Given the description of an element on the screen output the (x, y) to click on. 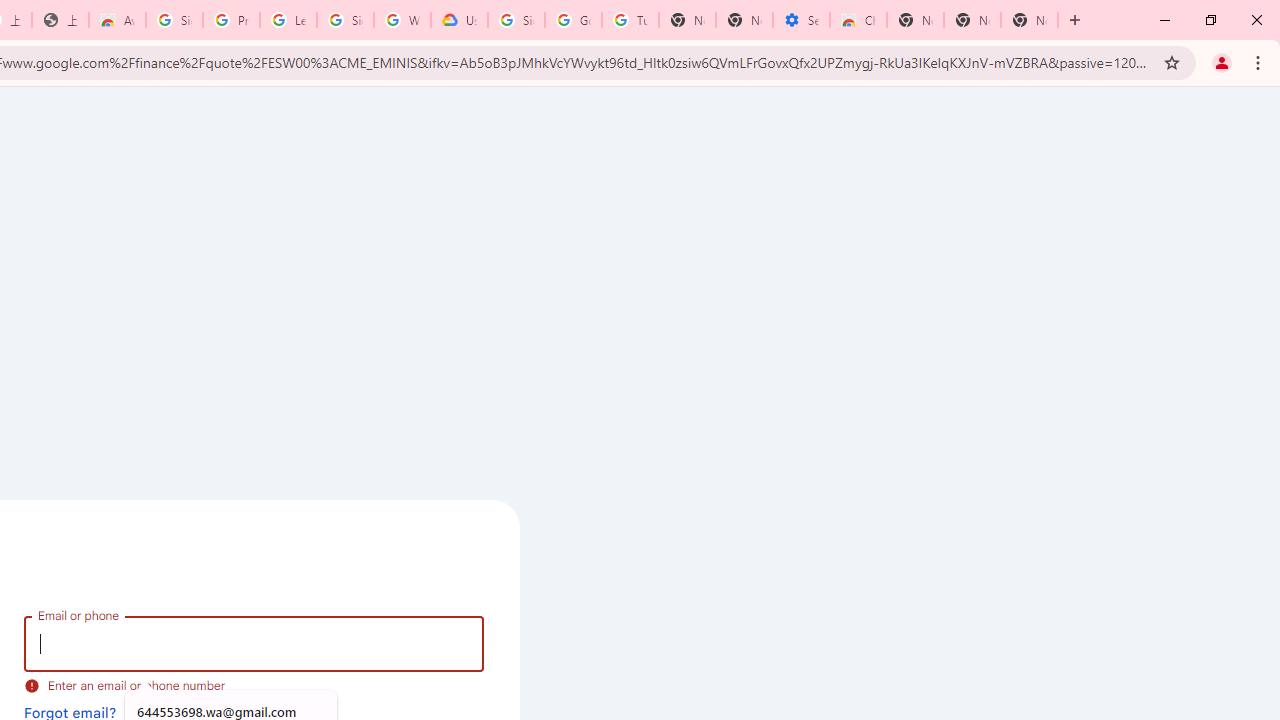
Settings - Accessibility (801, 20)
Turn cookies on or off - Computer - Google Account Help (630, 20)
Sign in - Google Accounts (516, 20)
